Given the description of an element on the screen output the (x, y) to click on. 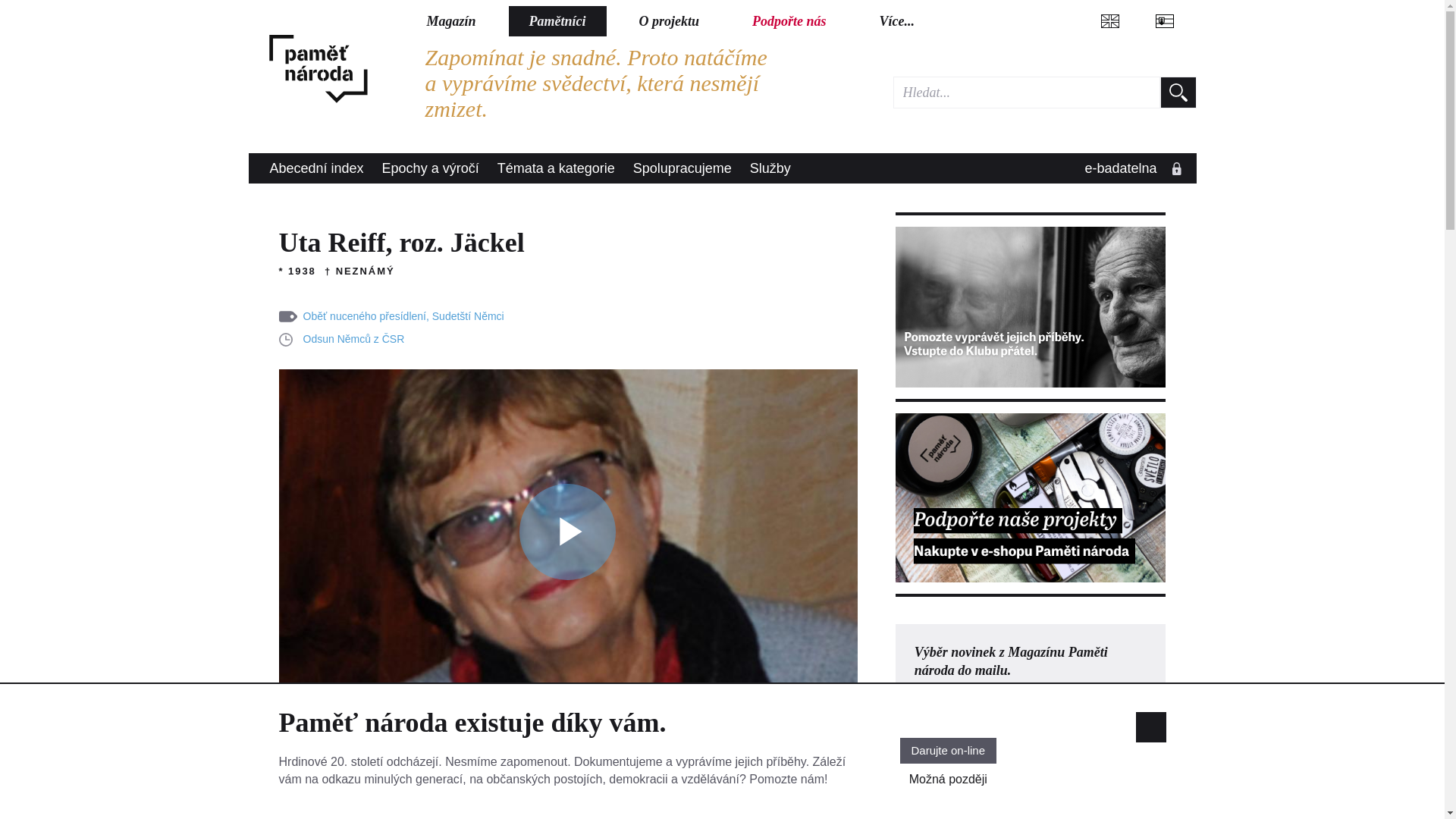
O projektu (669, 20)
Play Video (567, 531)
e-badatelna (1130, 168)
Spolupracujeme (682, 168)
